Given the description of an element on the screen output the (x, y) to click on. 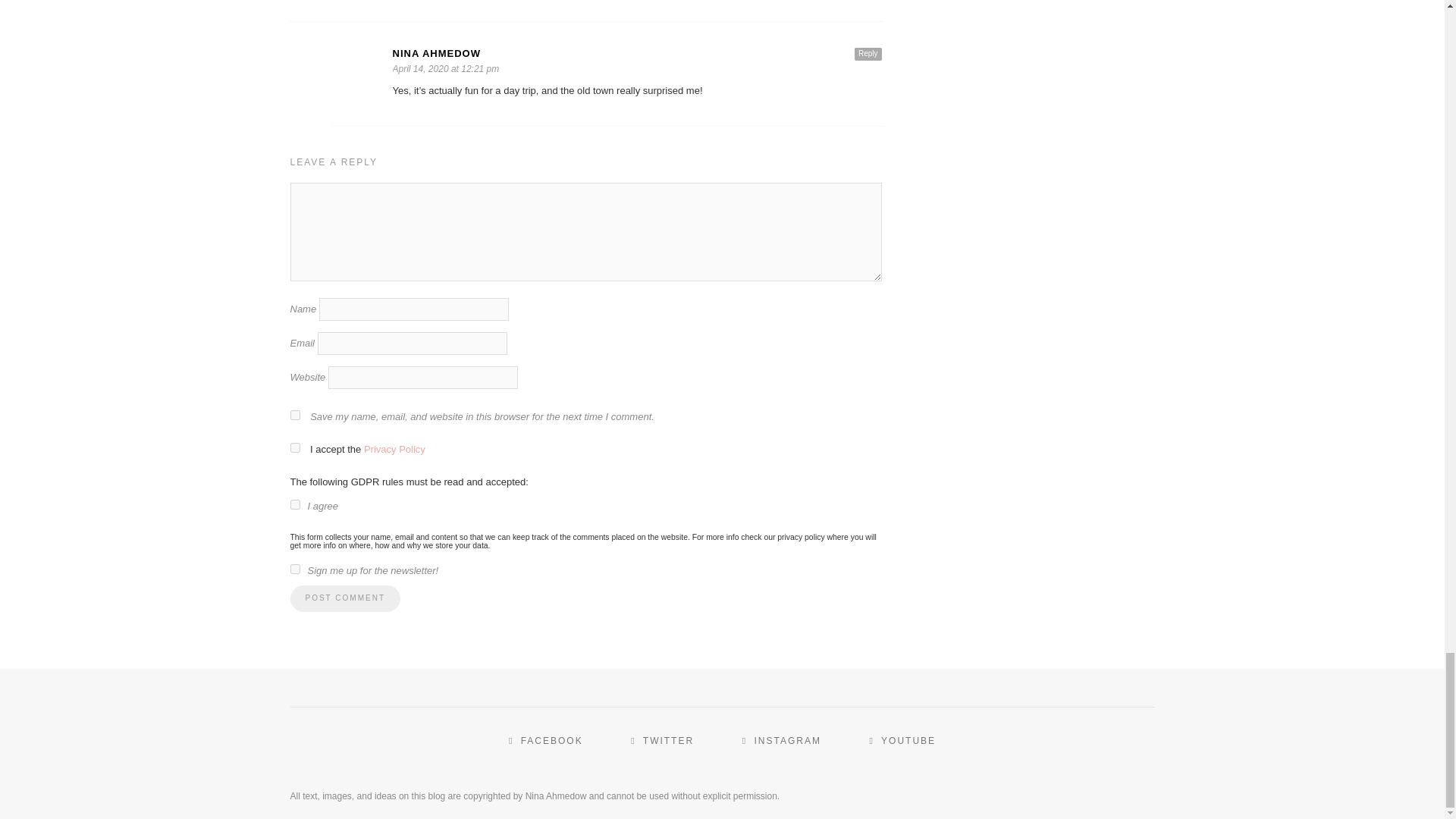
1 (294, 504)
yes (294, 415)
Reply (868, 53)
1 (294, 569)
1 (294, 447)
Post Comment (343, 598)
